Given the description of an element on the screen output the (x, y) to click on. 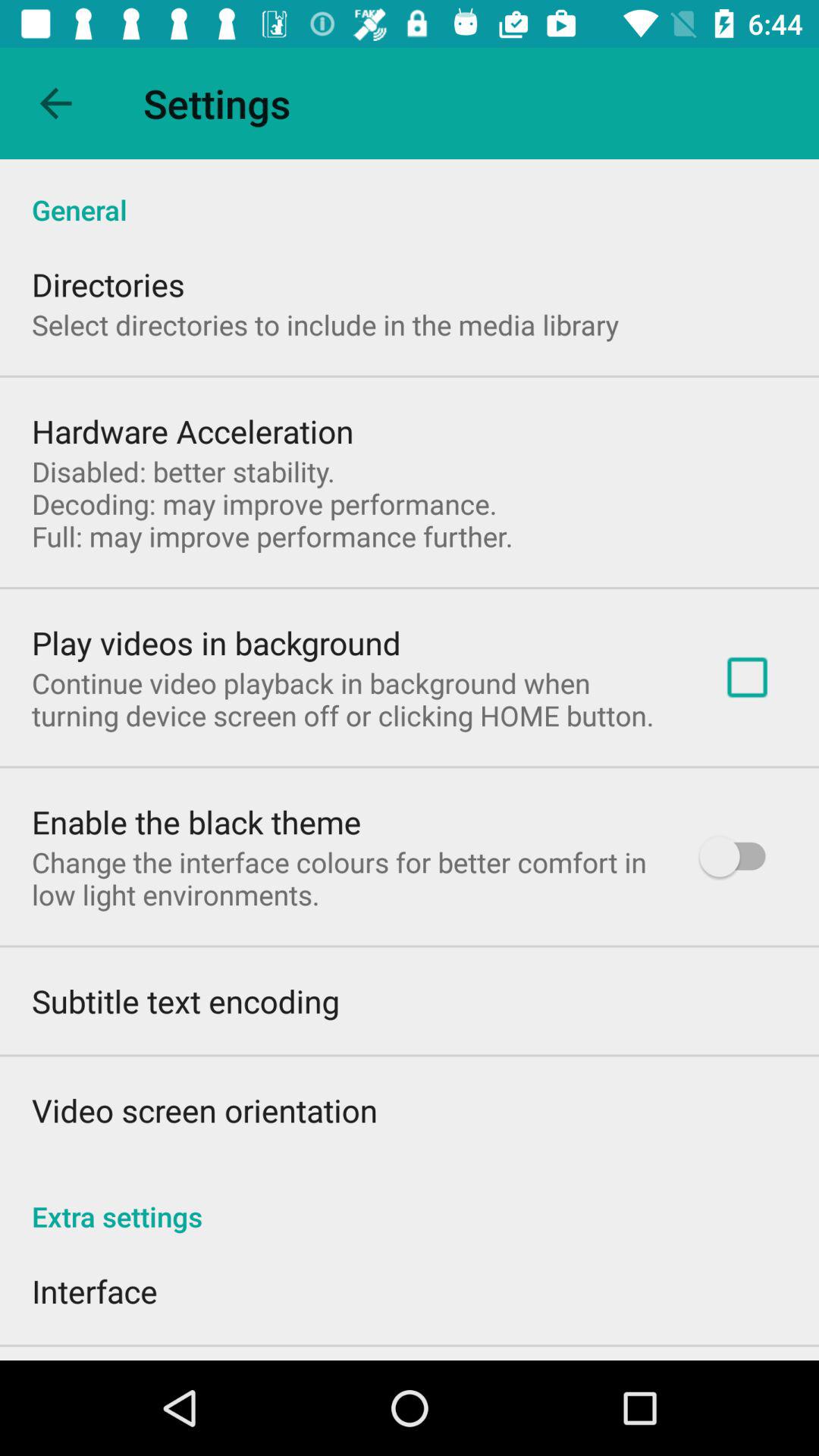
swipe until the subtitle text encoding (185, 1000)
